Given the description of an element on the screen output the (x, y) to click on. 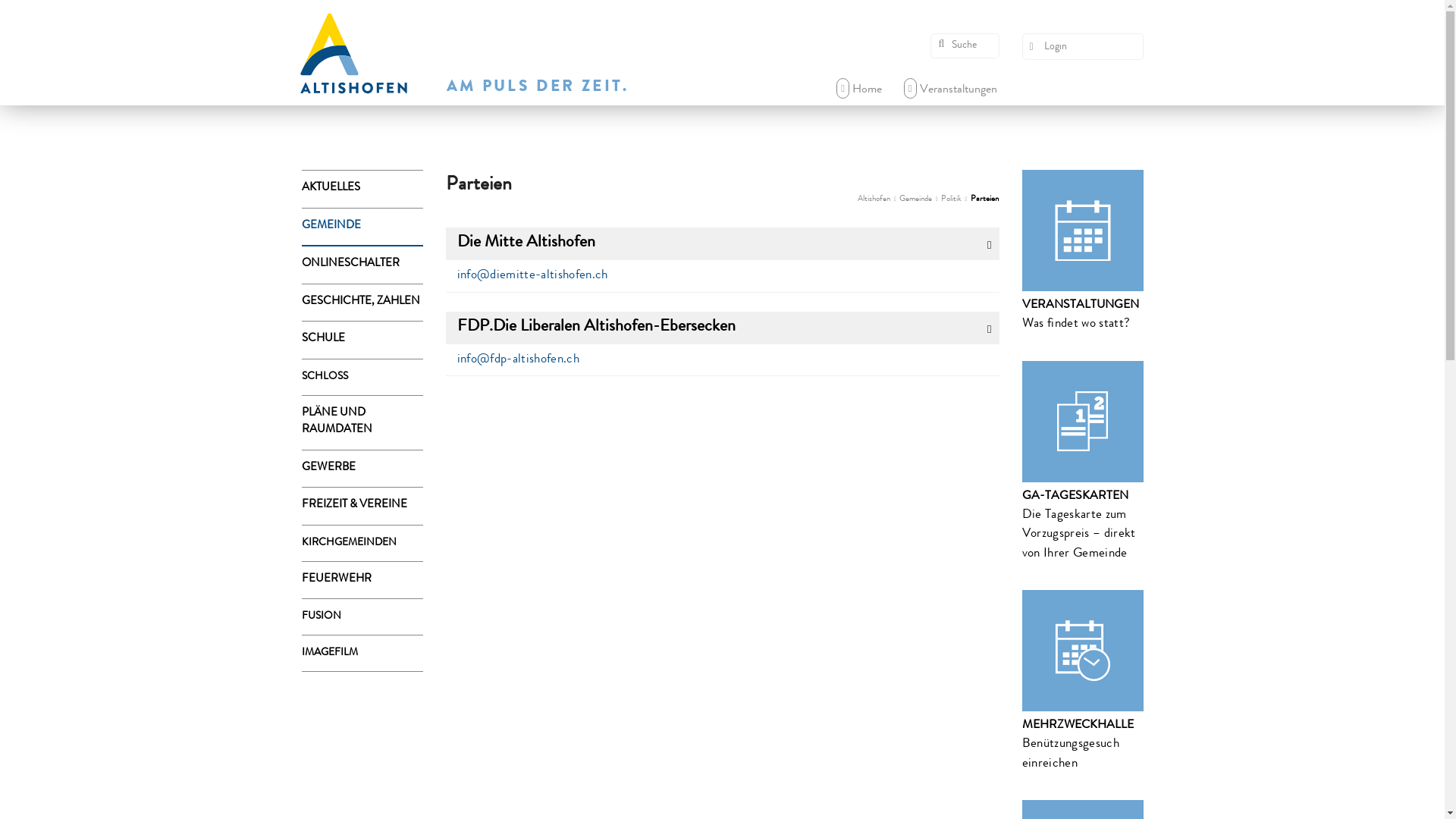
FREIZEIT & VEREINE Element type: text (362, 506)
VERANSTALTUNGEN
Was findet wo statt? Element type: text (1082, 251)
FDP.Die Liberalen Altishofen-Ebersecken Element type: text (722, 326)
GEMEINDE Element type: text (362, 225)
info@fdp-altishofen.ch Element type: text (517, 359)
Suche Element type: text (963, 45)
SCHULE Element type: text (362, 340)
Home Element type: text (858, 90)
KIRCHGEMEINDEN Element type: text (362, 542)
Altishofen Element type: text (873, 198)
FUSION Element type: text (362, 617)
AM PULS DER ZEIT. Element type: text (536, 87)
ONLINESCHALTER Element type: text (362, 265)
info@diemitte-altishofen.ch Element type: text (531, 275)
IMAGEFILM Element type: text (362, 653)
Politik Element type: text (951, 198)
Veranstaltungen Element type: text (950, 90)
AKTUELLES Element type: text (362, 188)
SCHLOSS Element type: text (362, 377)
FEUERWEHR Element type: text (362, 580)
Login Element type: text (1082, 46)
Die Mitte Altishofen Element type: text (722, 243)
GEWERBE Element type: text (362, 469)
Gemeinde Element type: text (915, 198)
GESCHICHTE, ZAHLEN Element type: text (362, 302)
